Given the description of an element on the screen output the (x, y) to click on. 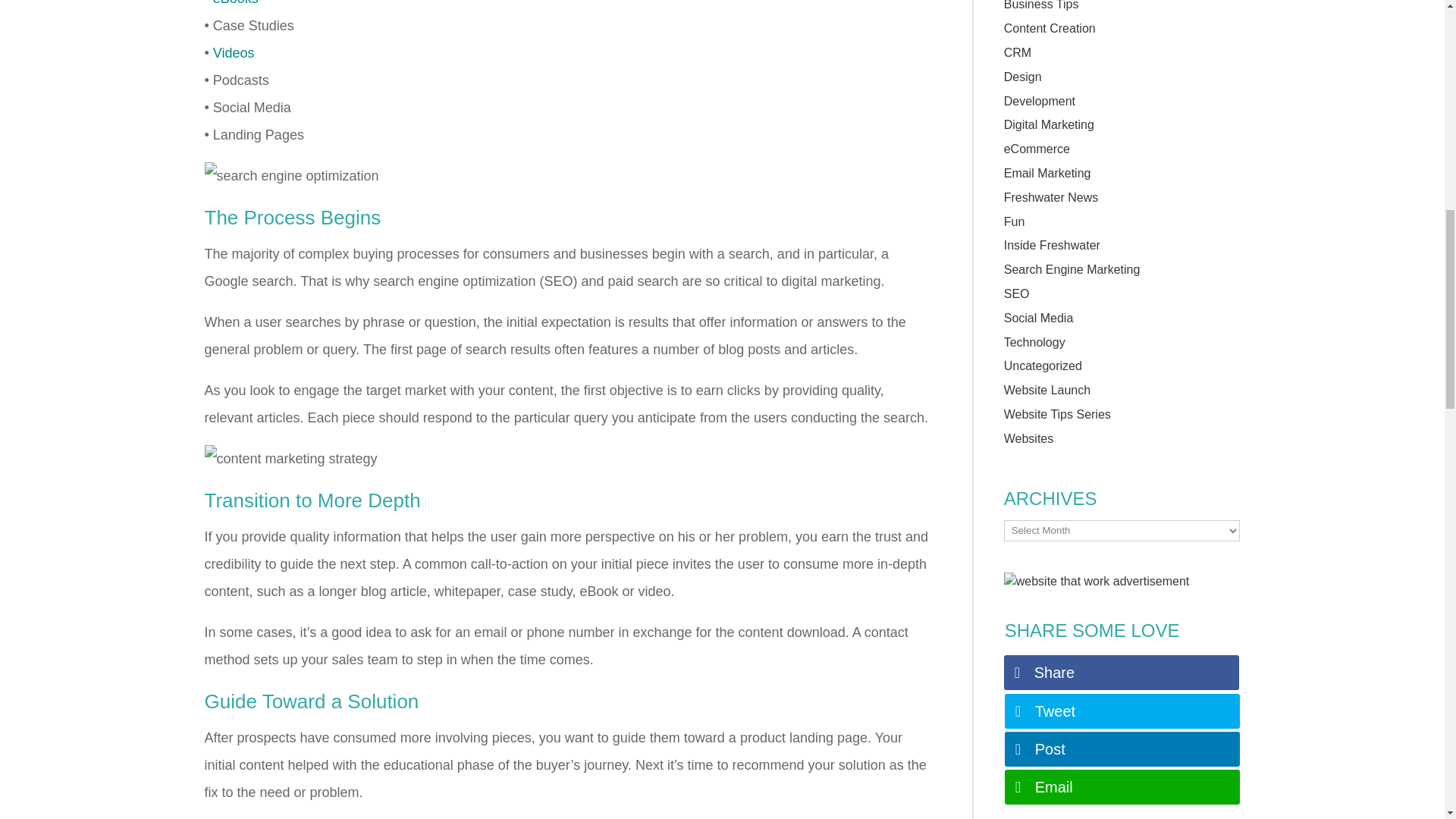
Videos (233, 52)
eBooks (235, 2)
